Given the description of an element on the screen output the (x, y) to click on. 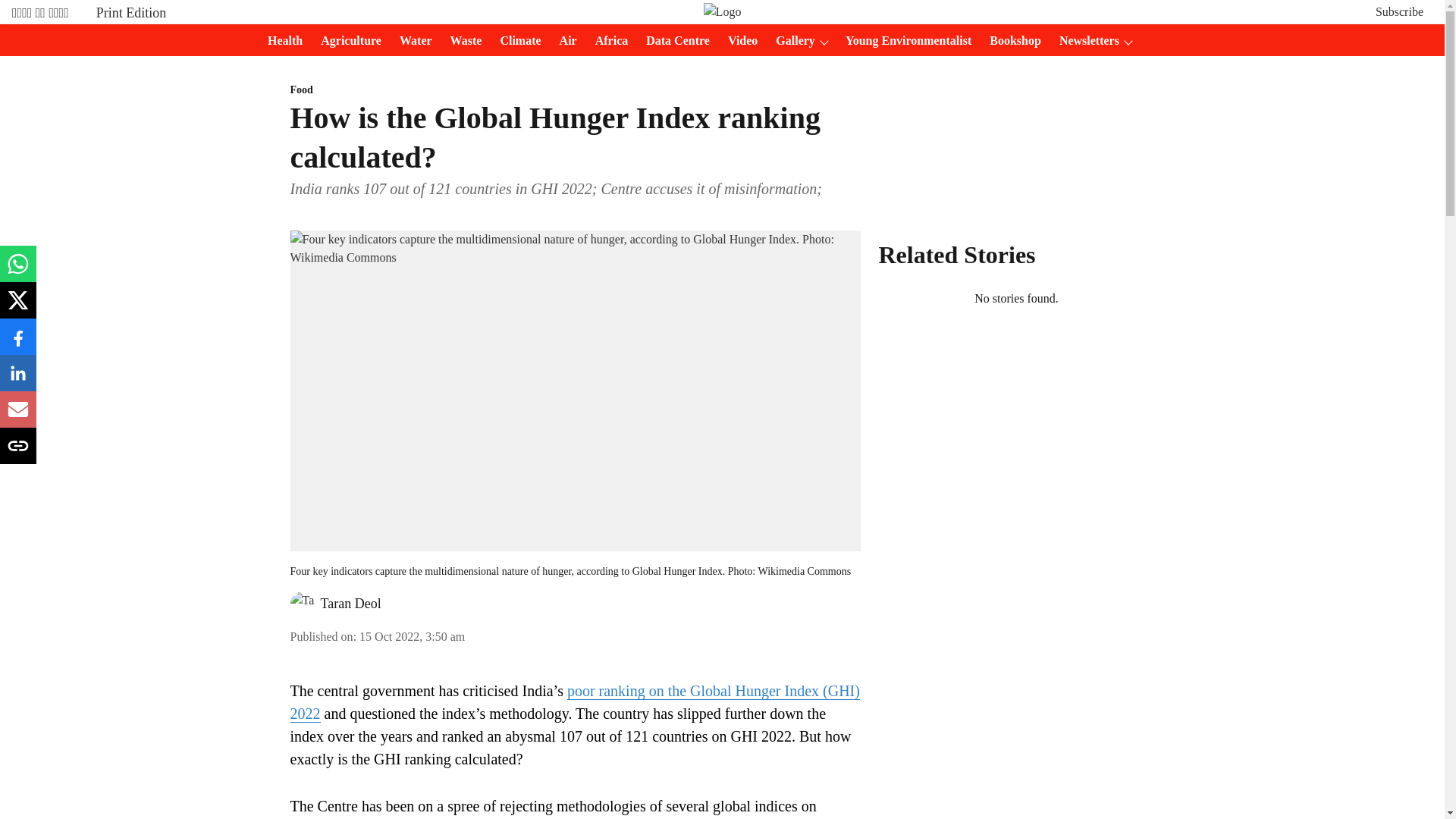
Waste (461, 40)
Bookshop (1010, 40)
2022-10-15 03:50 (411, 635)
Taran Deol (350, 603)
Africa (607, 40)
Print Edition (131, 12)
Food (574, 90)
Data Centre (673, 40)
Video (738, 40)
Agriculture (346, 40)
